Given the description of an element on the screen output the (x, y) to click on. 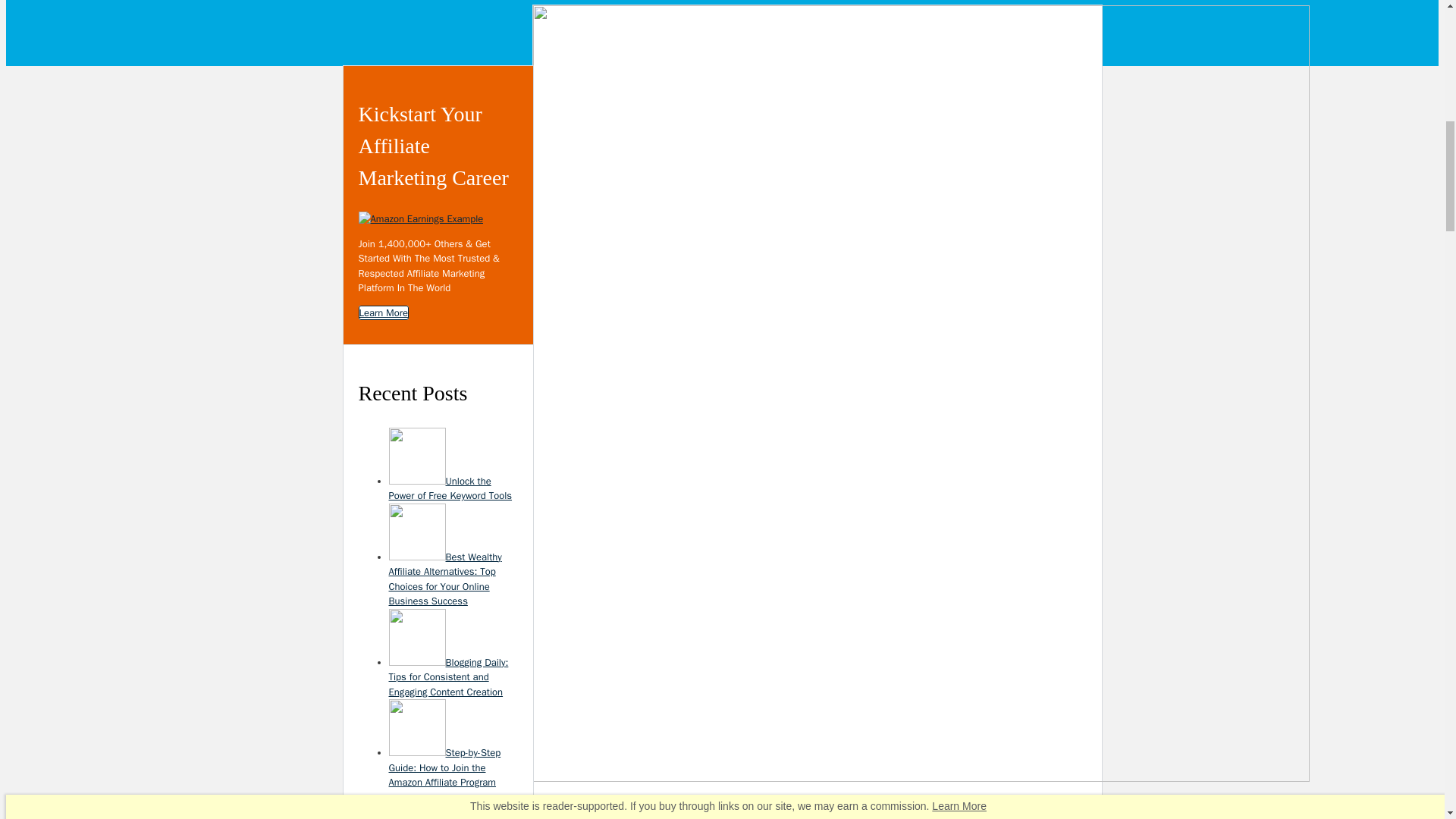
Step-by-Step Guide: How to Join the Amazon Affiliate Program (444, 767)
Unlock the Power of Free Keyword Tools (450, 488)
Learn More (382, 312)
